Given the description of an element on the screen output the (x, y) to click on. 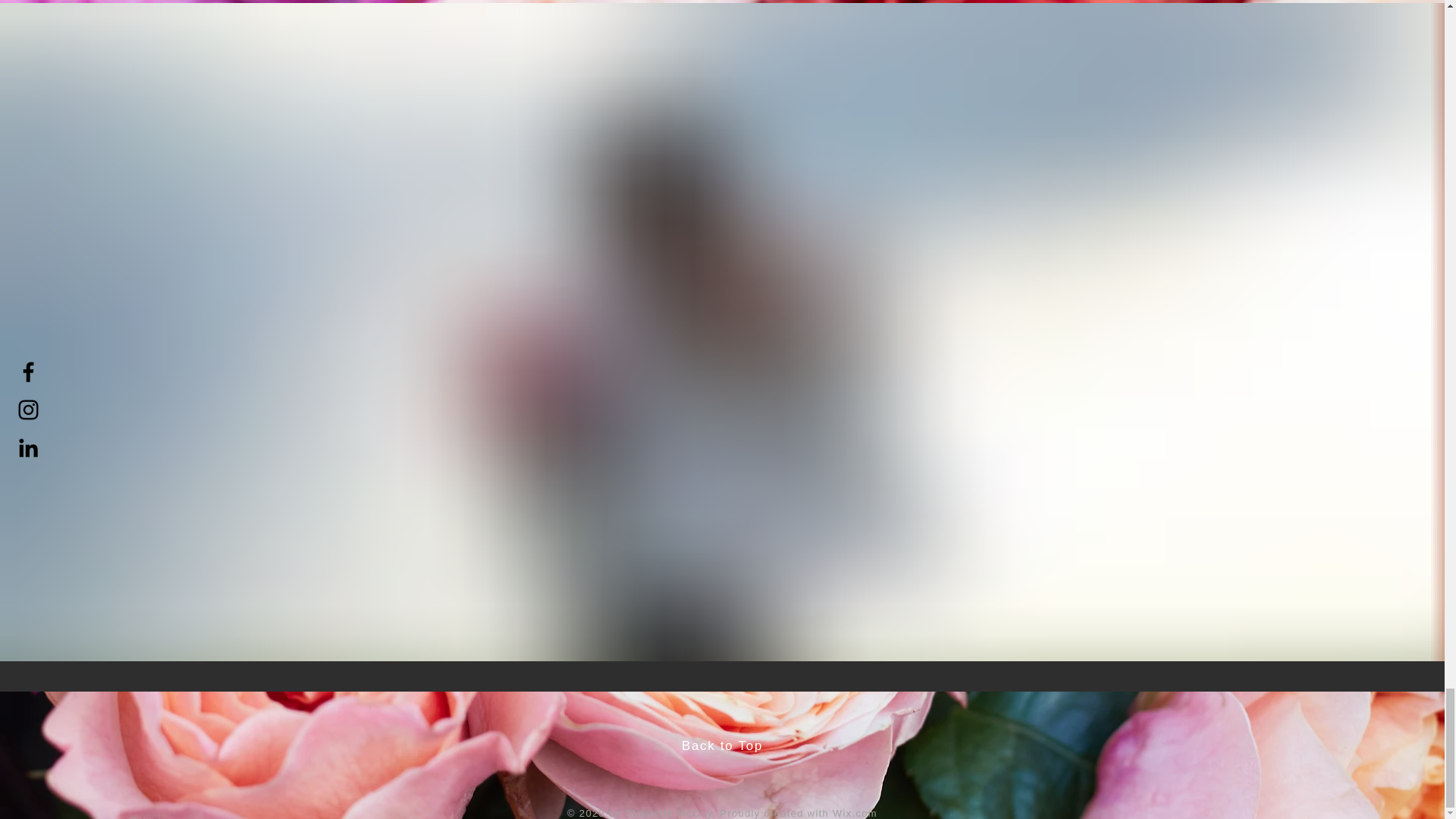
Back to Top (721, 745)
